Given the description of an element on the screen output the (x, y) to click on. 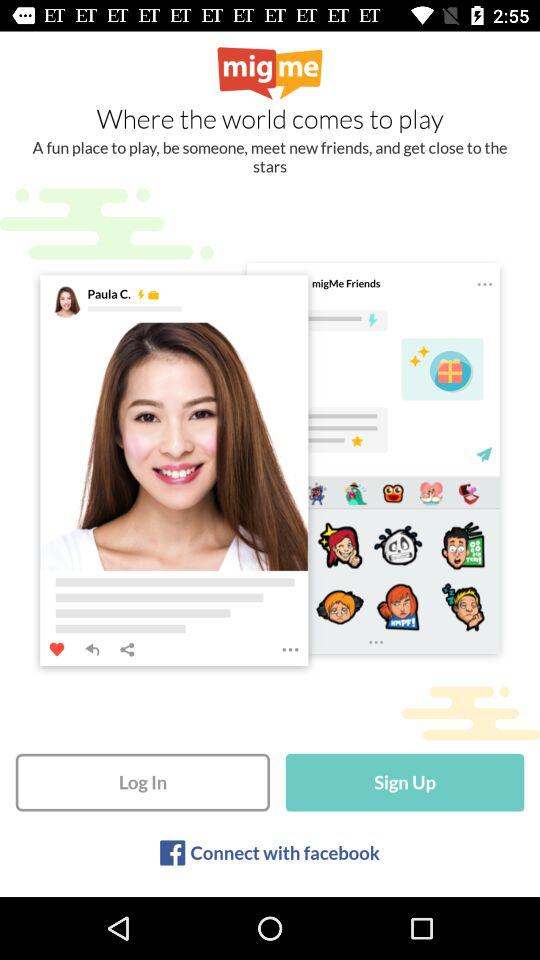
select the log in item (142, 782)
